Given the description of an element on the screen output the (x, y) to click on. 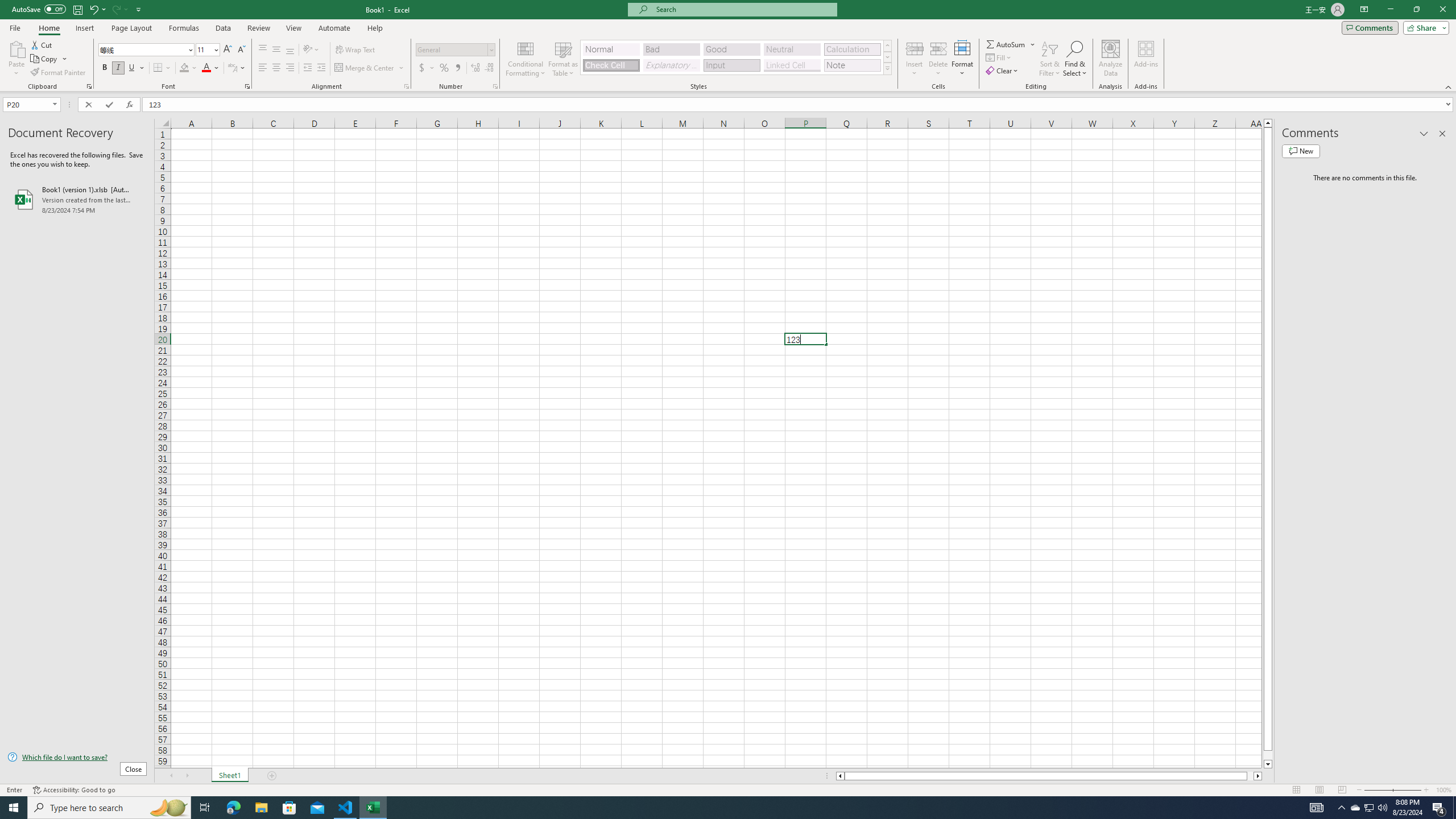
View (293, 28)
Sum (1006, 44)
Page Break Preview (1342, 790)
Font (147, 49)
Decrease Font Size (240, 49)
Edit Cell (805, 339)
Line up (1267, 122)
Copy (45, 58)
Task Pane Options (1423, 133)
Normal (1296, 790)
AutoSave (38, 9)
Bottom Align (290, 49)
Font Size (204, 49)
